Given the description of an element on the screen output the (x, y) to click on. 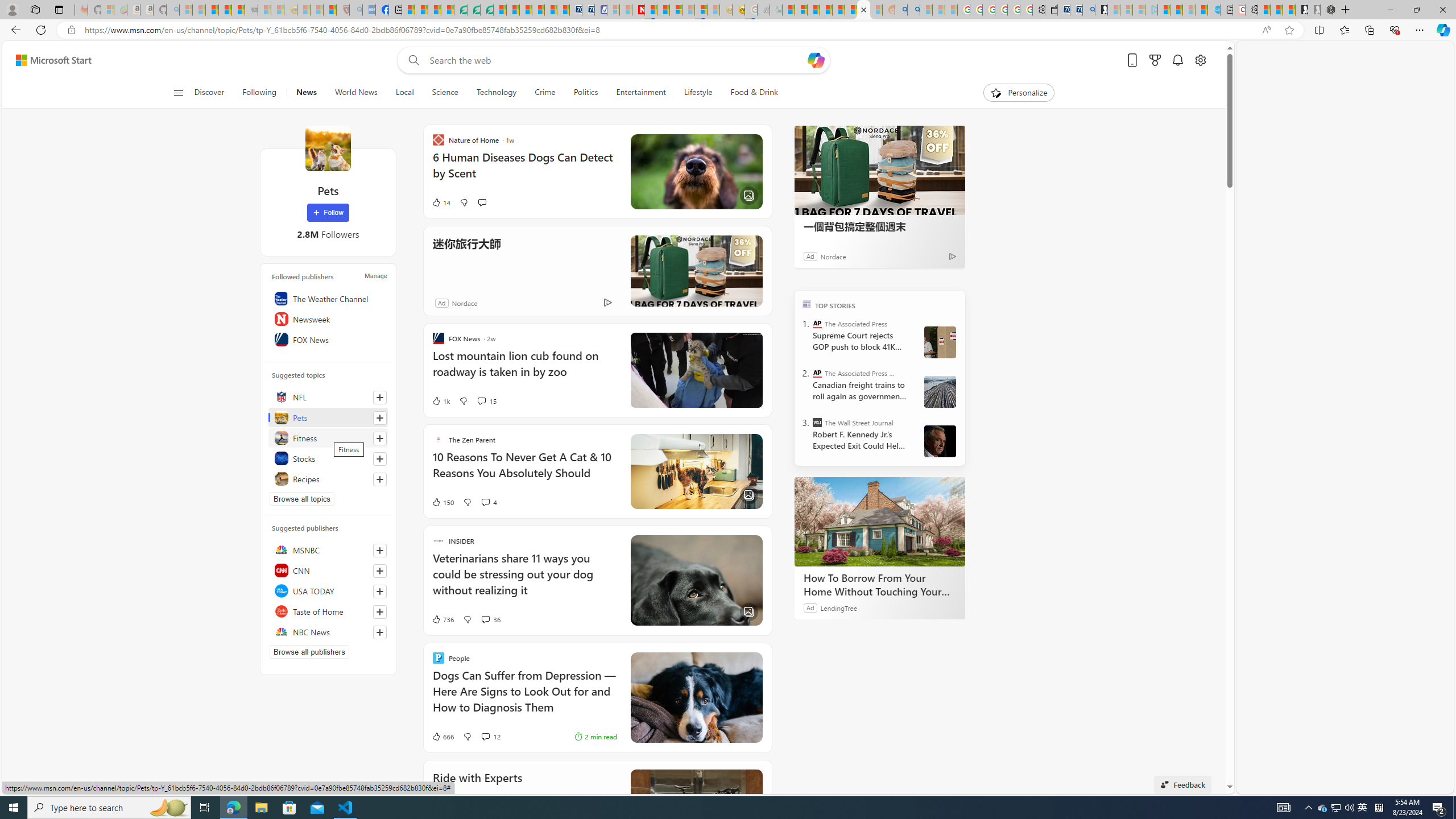
Latest Politics News & Archive | Newsweek.com (638, 9)
list of asthma inhalers uk - Search - Sleeping (355, 9)
View comments 4 Comment (485, 501)
Follow this source (379, 631)
Science (444, 92)
View comments 12 Comment (485, 736)
736 Like (442, 619)
